Given the description of an element on the screen output the (x, y) to click on. 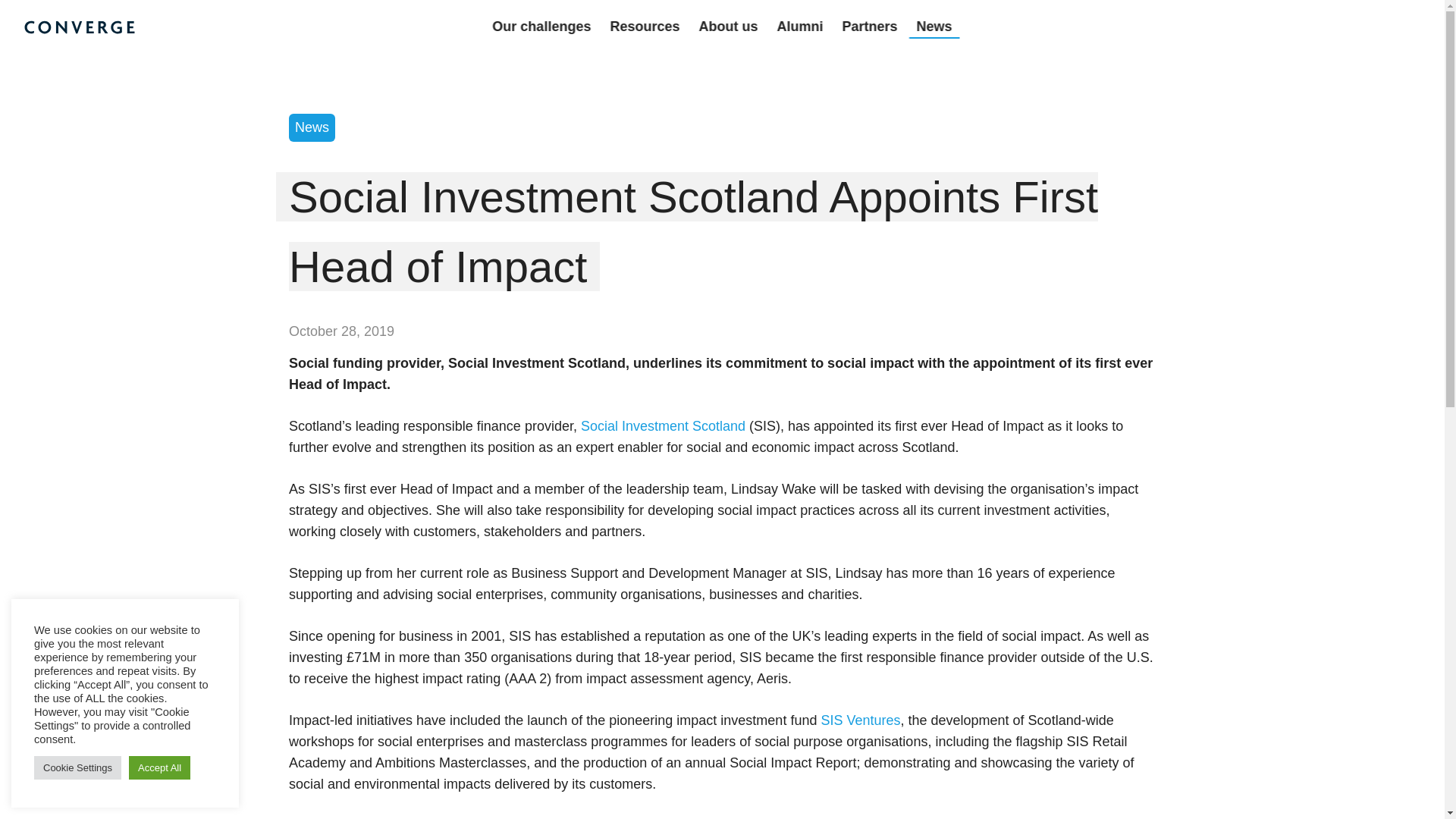
Accept All (159, 767)
Our challenges (541, 26)
Converge Challenge (79, 29)
Alumni (800, 26)
Resources (644, 26)
News (311, 127)
Cookie Settings (76, 767)
Social Investment Scotland (662, 426)
About us (728, 26)
SIS Ventures (860, 720)
Partners (869, 26)
News (933, 26)
